Given the description of an element on the screen output the (x, y) to click on. 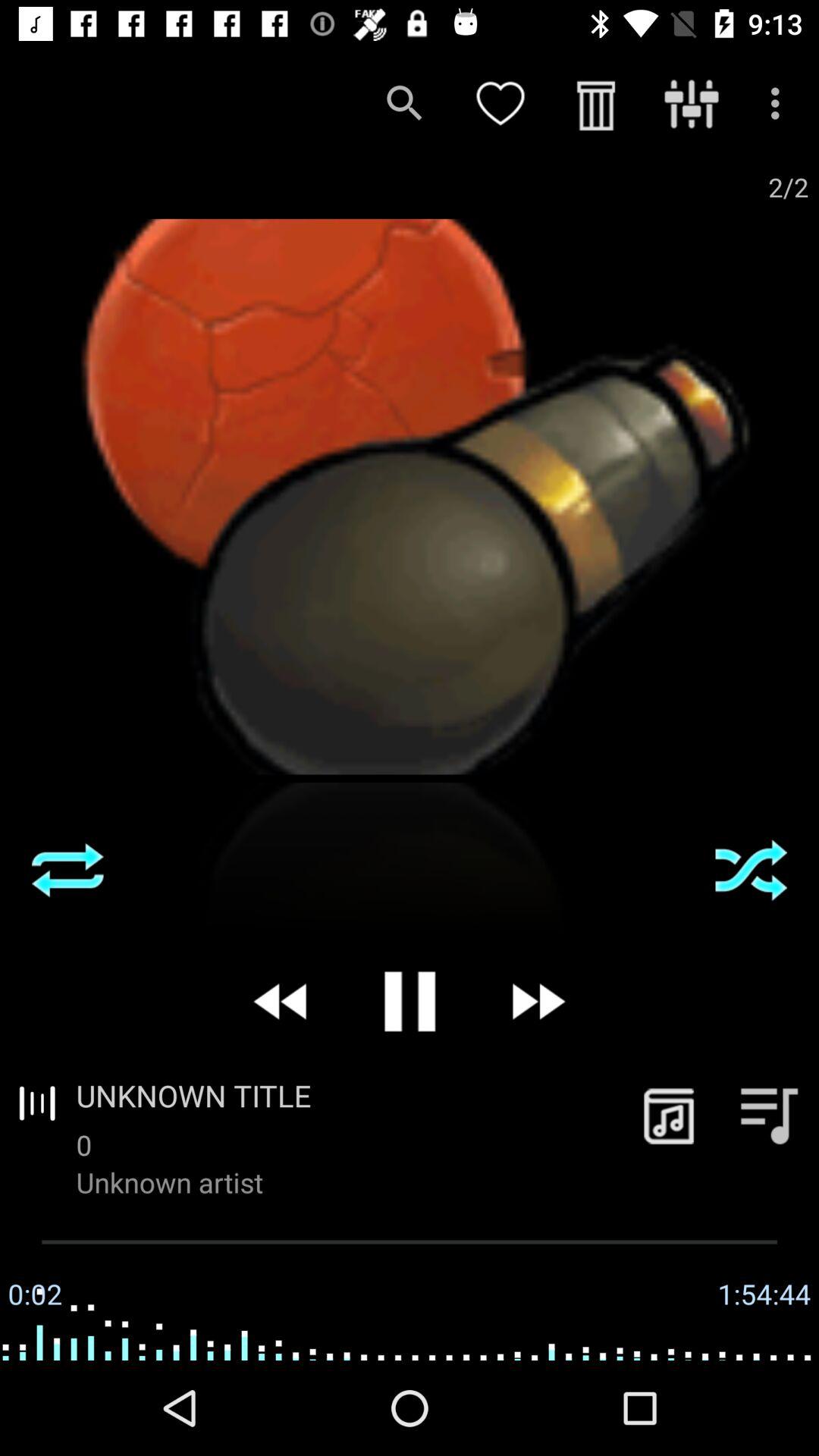
press icon above unknown title (409, 1001)
